Given the description of an element on the screen output the (x, y) to click on. 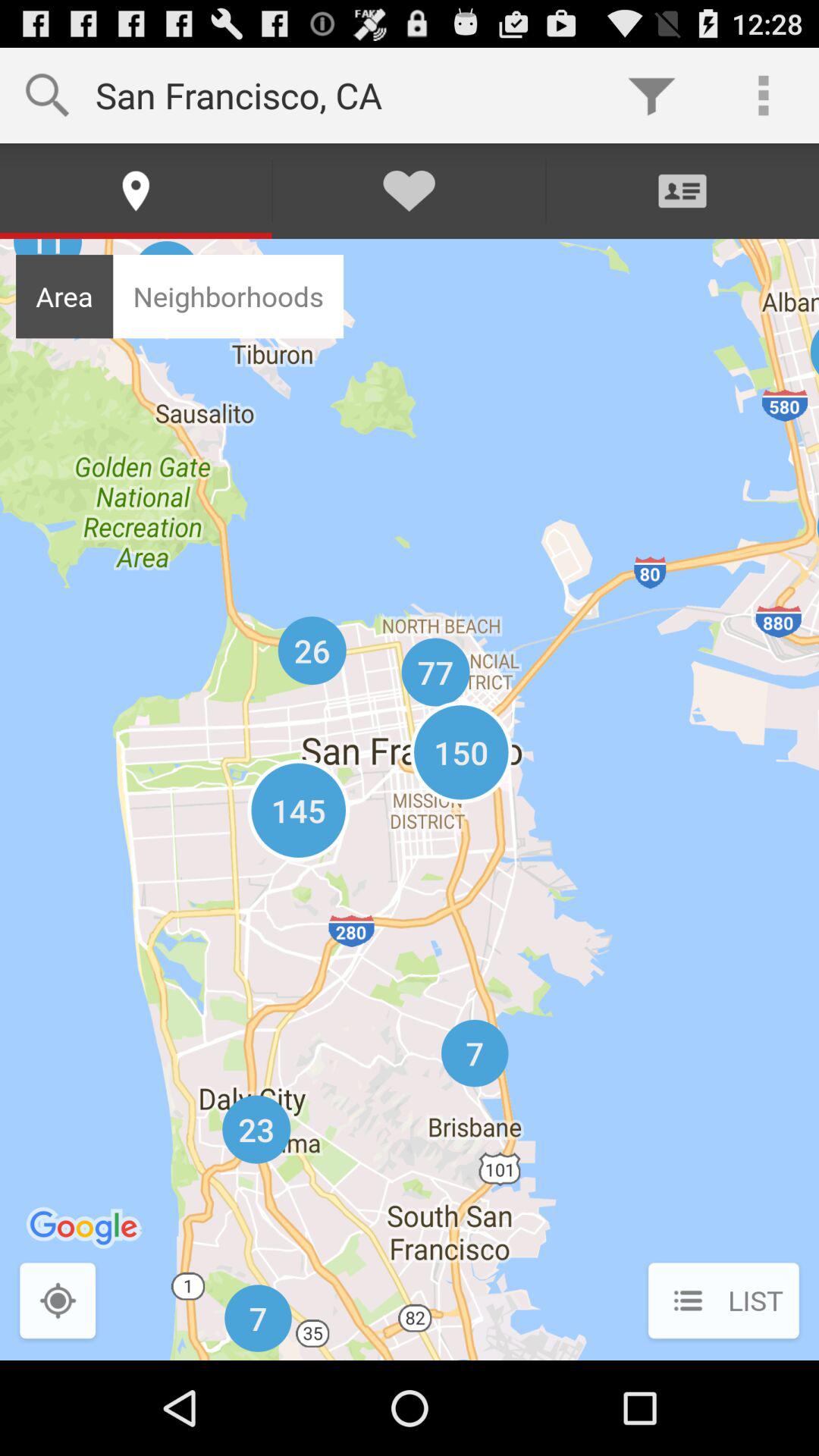
flip until the list icon (723, 1302)
